Given the description of an element on the screen output the (x, y) to click on. 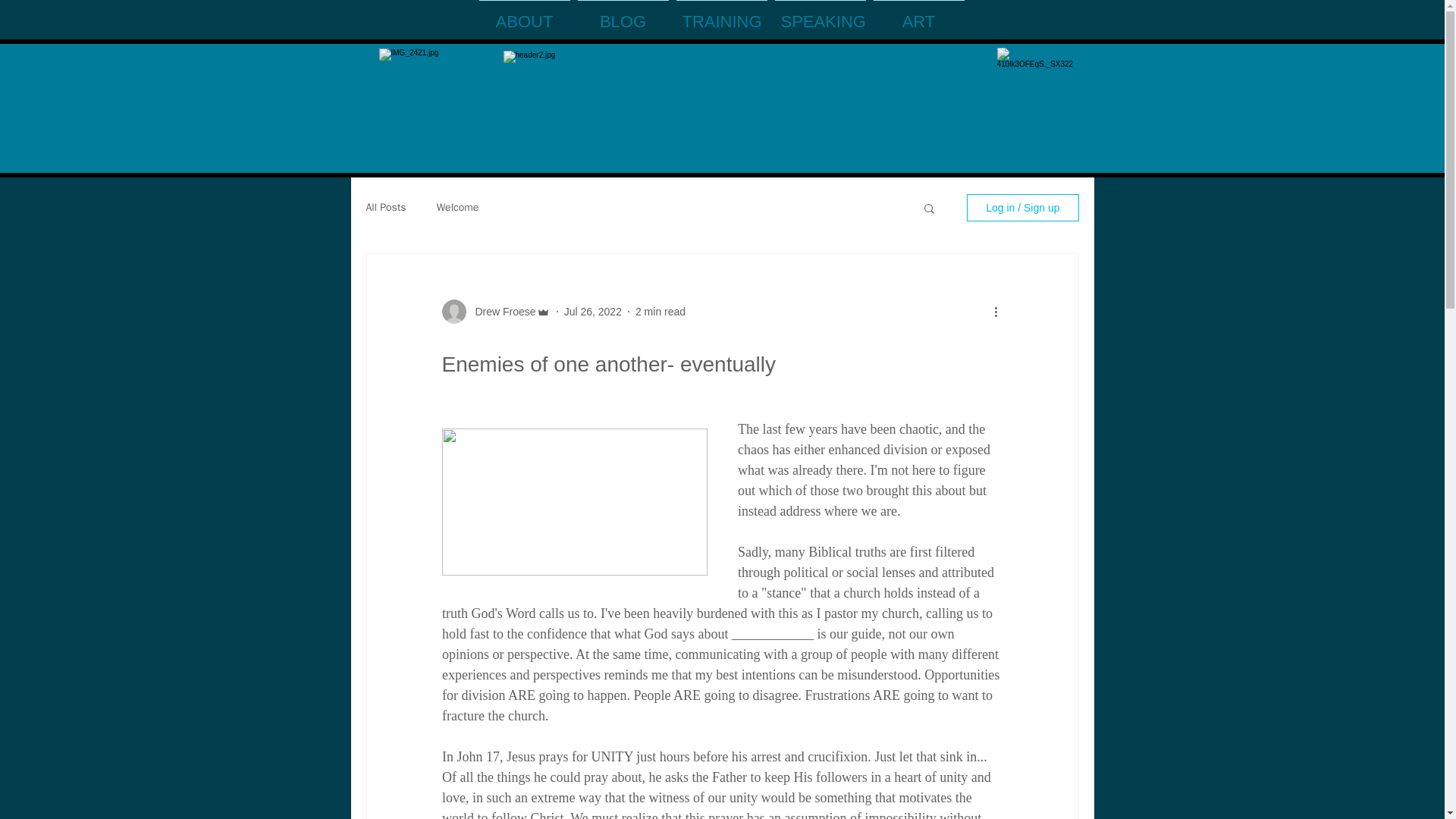
Jul 26, 2022 (592, 310)
All Posts (385, 207)
SPEAKING (819, 15)
TRAINING (720, 15)
ABOUT (523, 15)
Welcome (457, 207)
BLOG (622, 15)
ART (918, 15)
Drew Froese (500, 311)
2 min read (659, 310)
